Given the description of an element on the screen output the (x, y) to click on. 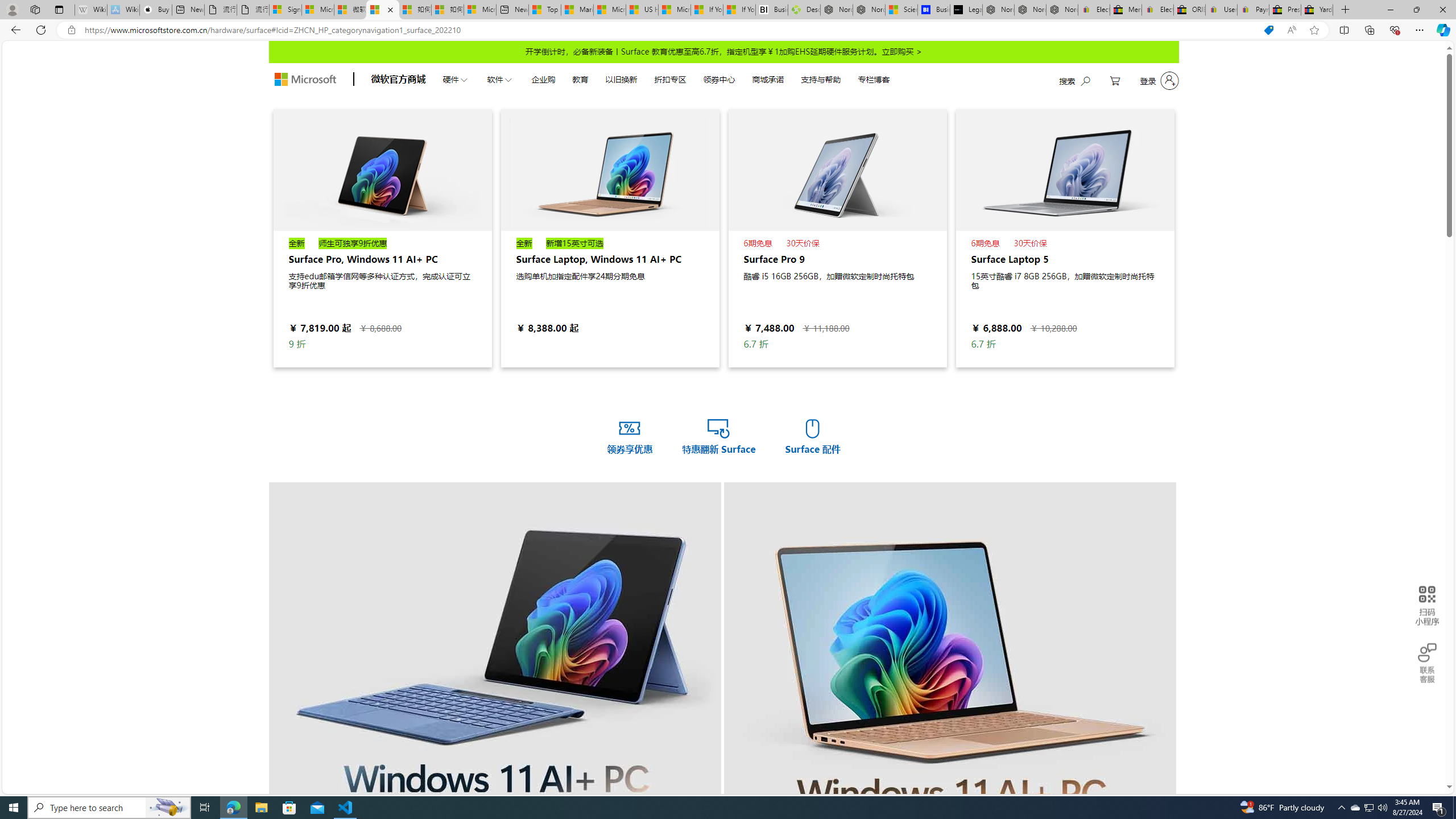
User Privacy Notice | eBay (1221, 9)
My Cart (1115, 80)
Browser essentials (1394, 29)
Top Stories - MSN (545, 9)
Settings and more (Alt+F) (1419, 29)
Surface Laptop, Windows 11 AI+ PC (609, 169)
Buy iPad - Apple (155, 9)
New Tab (1346, 9)
Surface Pro, Windows 11 AI+ PC (382, 237)
Minimize (1390, 9)
Descarga Driver Updater (804, 9)
Read aloud this page (Ctrl+Shift+U) (1291, 29)
You have the best price! (1268, 29)
Microsoft account | Account Checkup (479, 9)
